Given the description of an element on the screen output the (x, y) to click on. 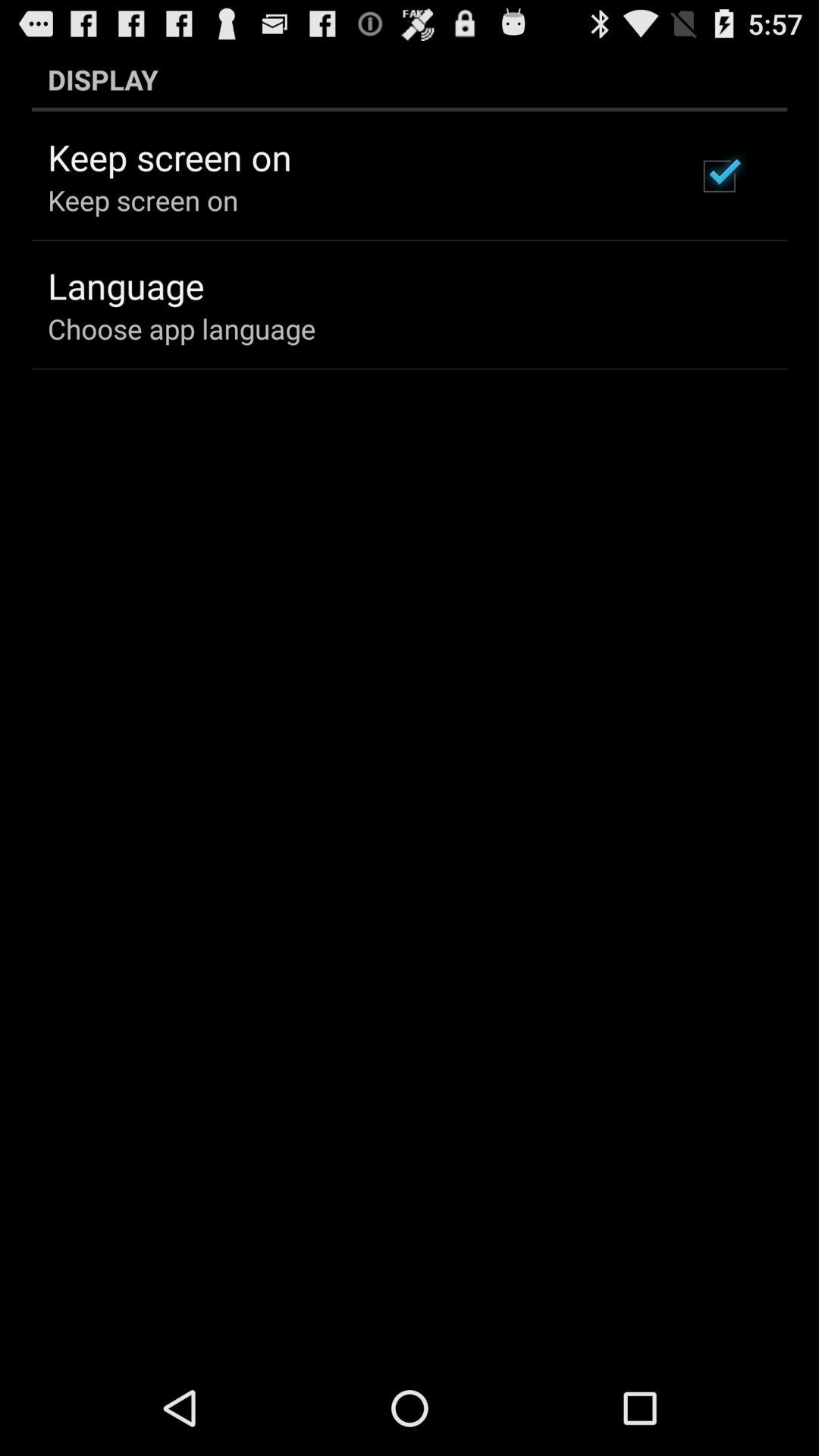
swipe to choose app language app (181, 328)
